Given the description of an element on the screen output the (x, y) to click on. 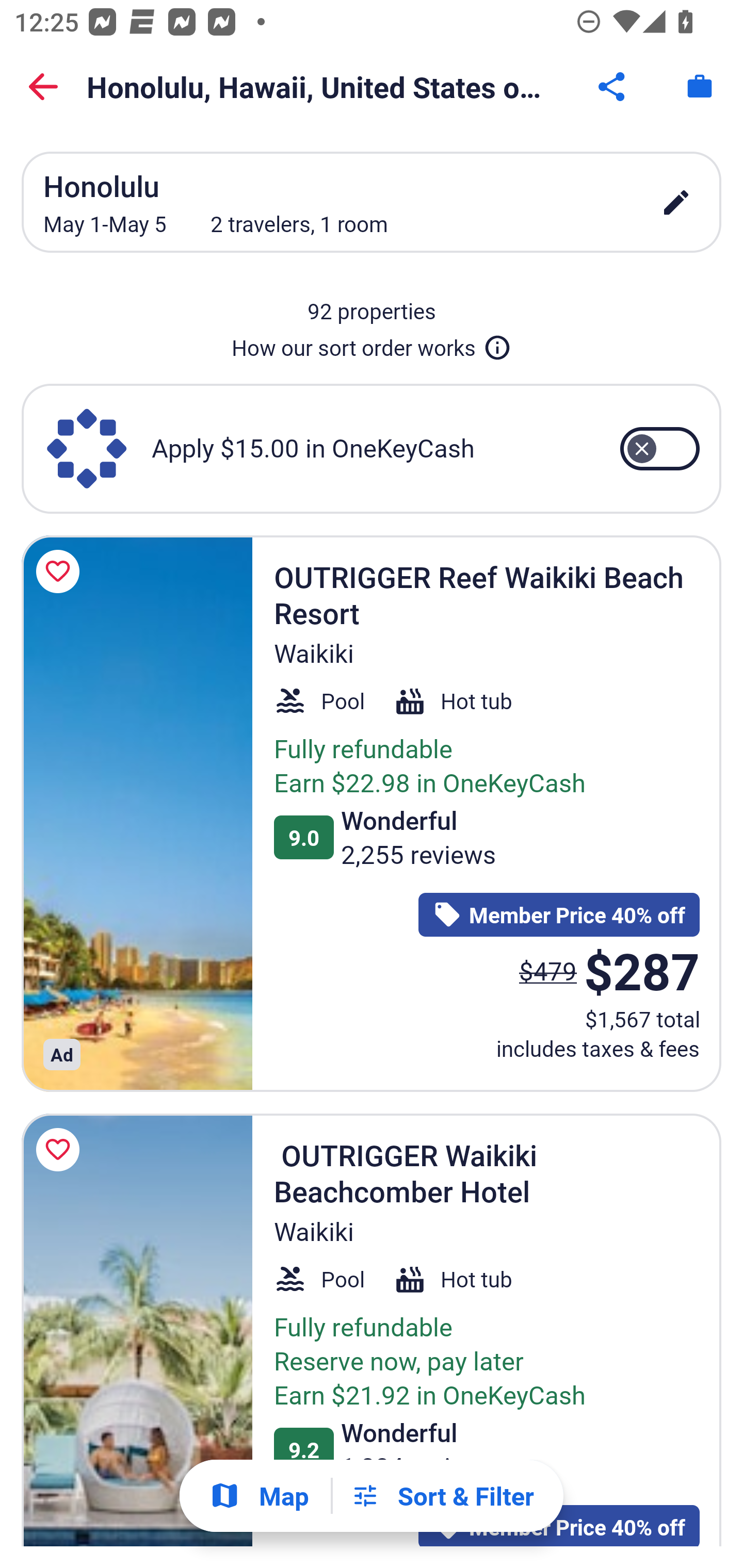
Back (43, 86)
Share Button (612, 86)
Trips. Button (699, 86)
Honolulu May 1-May 5 2 travelers, 1 room edit (371, 202)
How our sort order works (371, 344)
Save OUTRIGGER Reef Waikiki Beach Resort to a trip (61, 571)
OUTRIGGER Reef Waikiki Beach Resort (136, 812)
$479 The price was $479 (547, 970)
 OUTRIGGER Waikiki Beachcomber Hotel (136, 1329)
Filters Sort & Filter Filters Button (442, 1495)
Show map Map Show map Button (258, 1495)
